Given the description of an element on the screen output the (x, y) to click on. 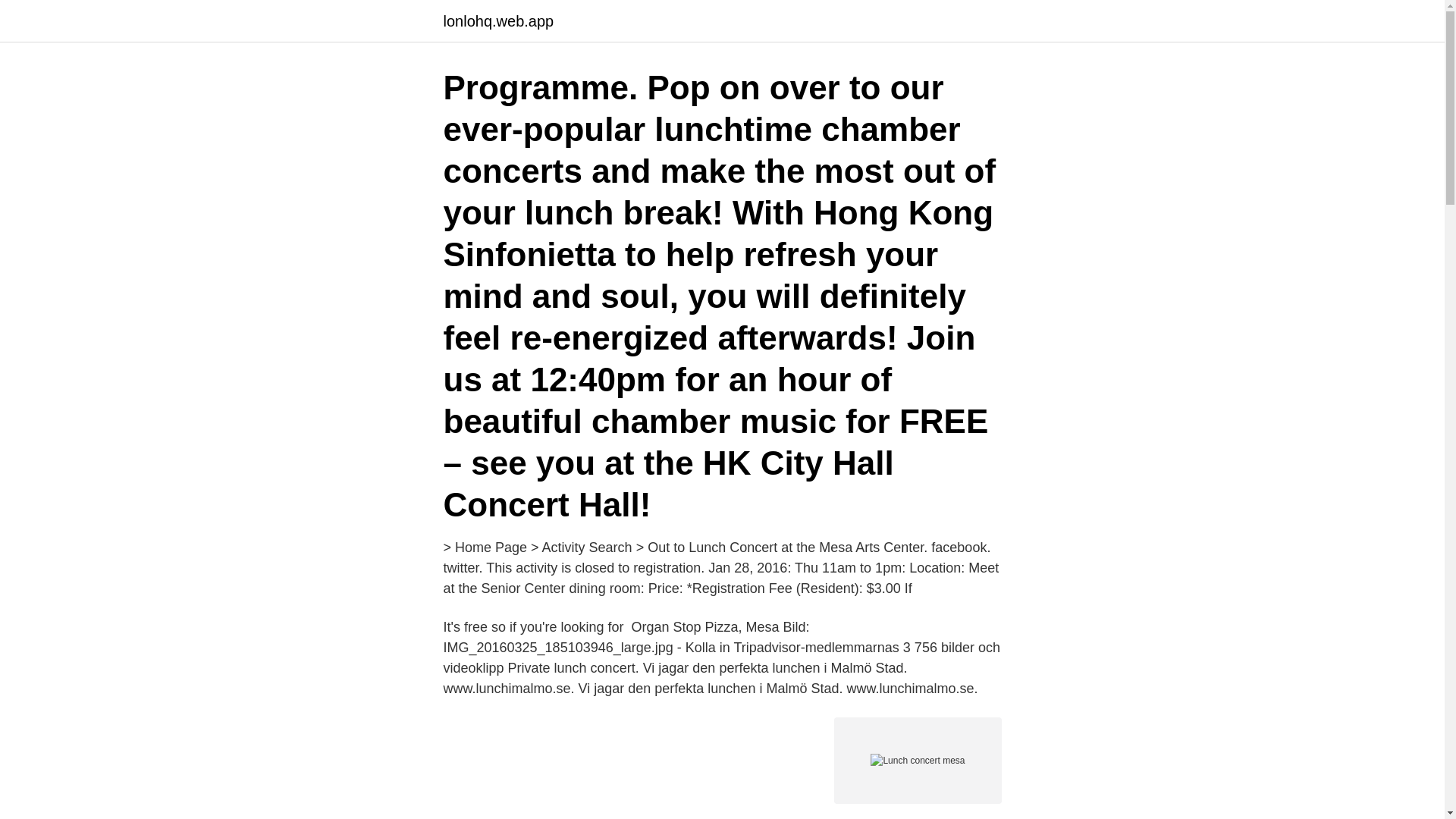
lonlohq.web.app (497, 20)
